Given the description of an element on the screen output the (x, y) to click on. 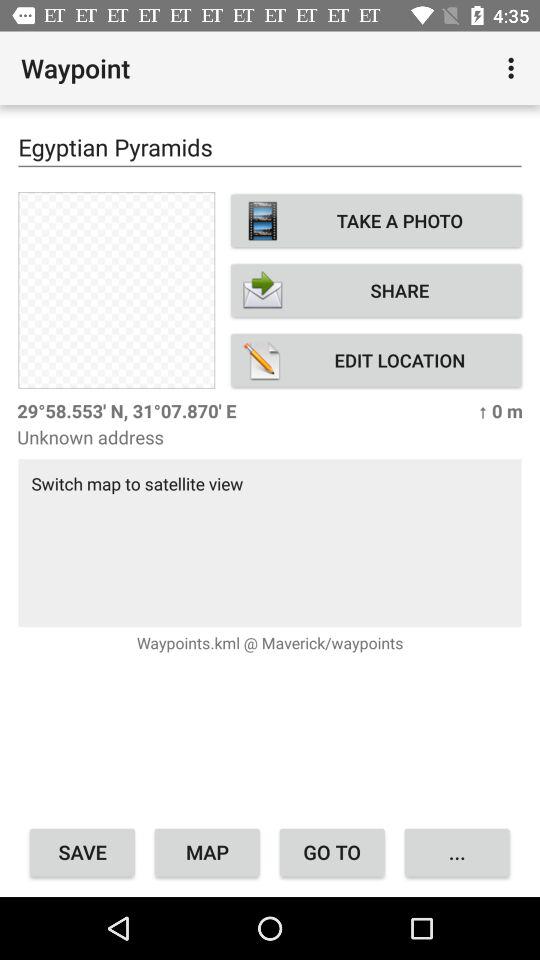
launch the item below share (375, 360)
